Given the description of an element on the screen output the (x, y) to click on. 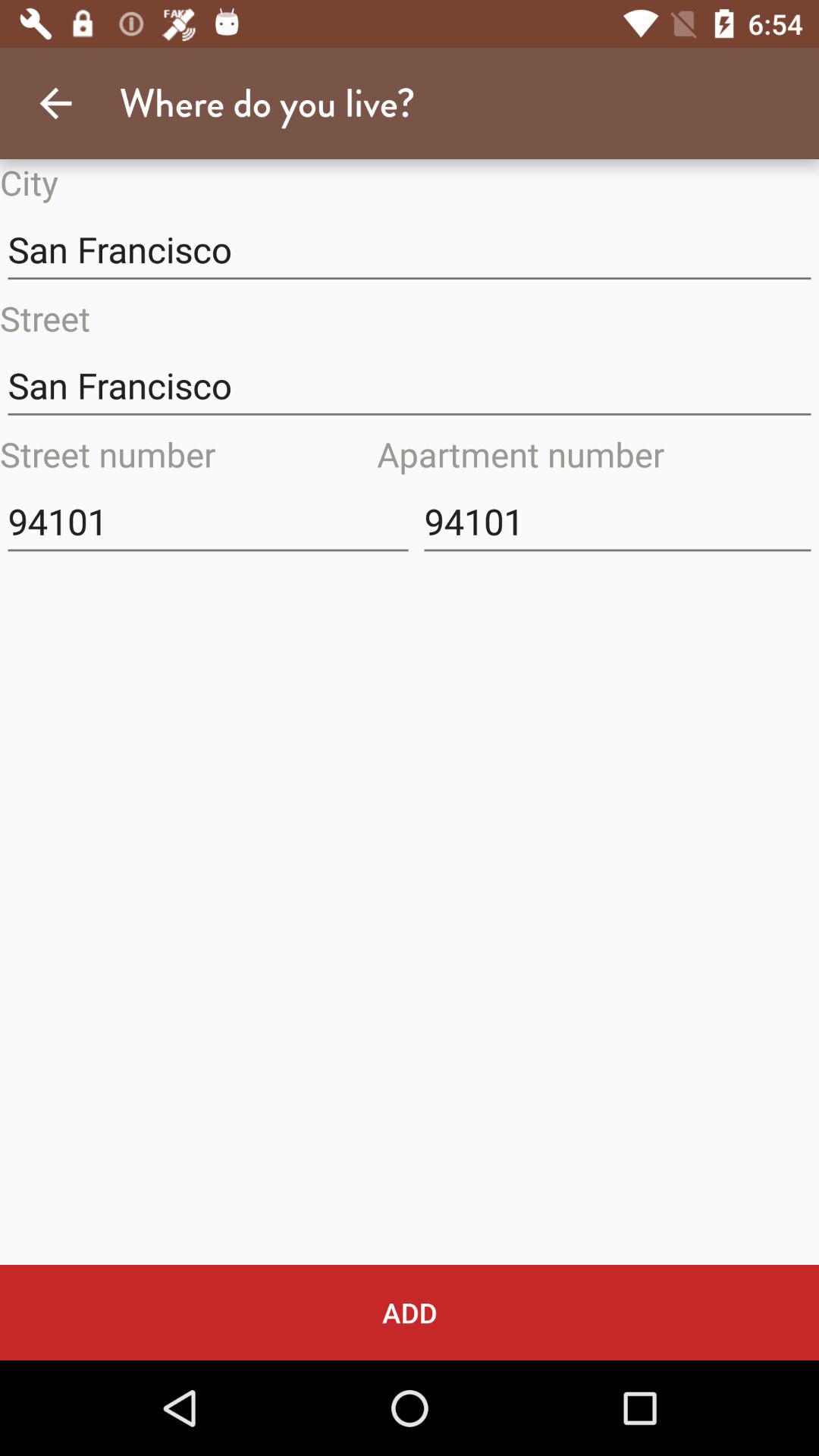
scroll to the add icon (409, 1312)
